Given the description of an element on the screen output the (x, y) to click on. 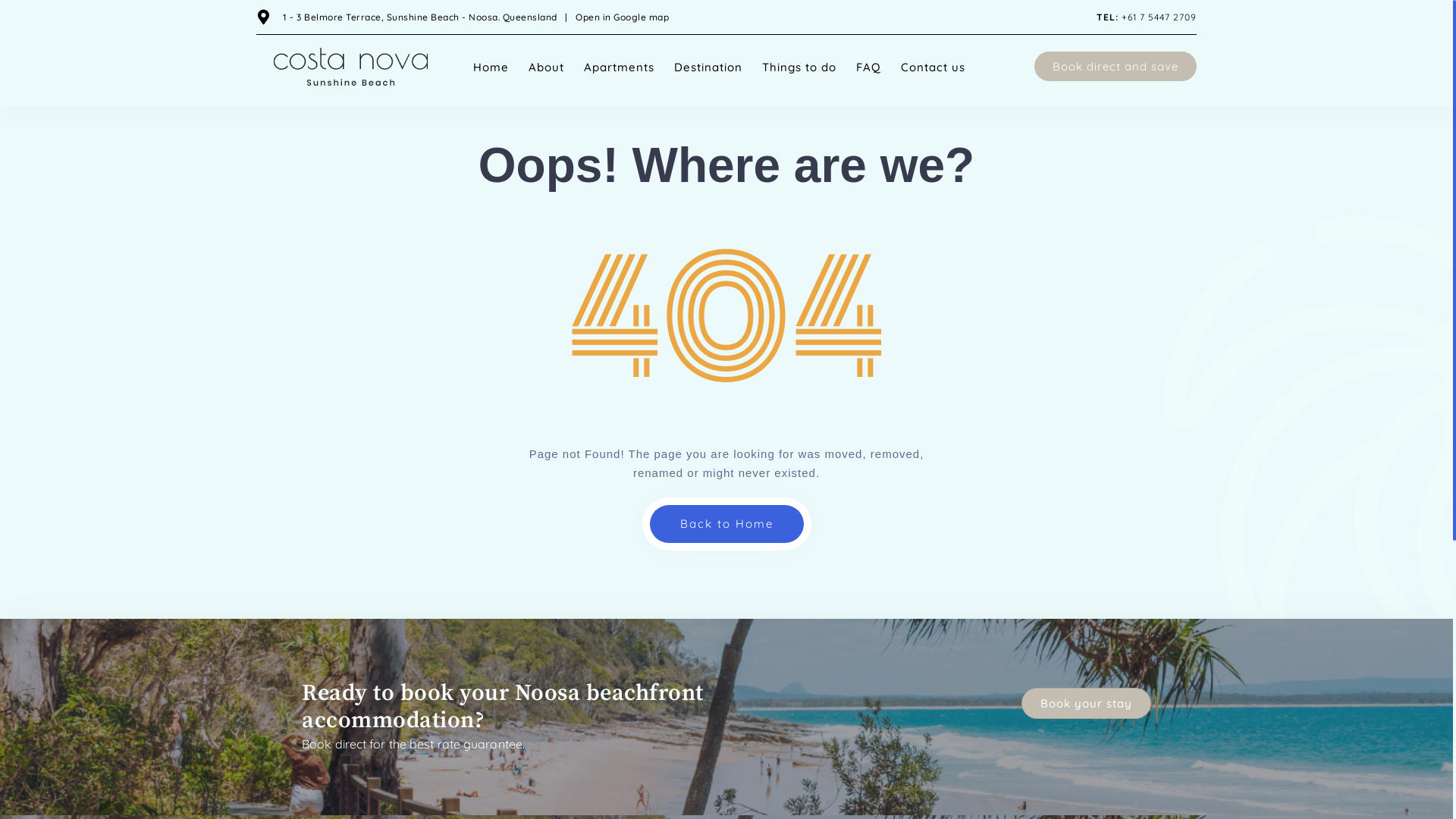
Things to do Element type: text (799, 66)
Destination Element type: text (708, 66)
Open in Google map Element type: text (621, 15)
Apartments Element type: text (618, 66)
Contact us Element type: text (932, 66)
Home Element type: text (489, 66)
FAQ Element type: text (868, 66)
Book your stay Element type: text (1086, 702)
Back to Home Element type: text (726, 523)
Book direct and save Element type: text (1115, 66)
About Element type: text (546, 66)
